Given the description of an element on the screen output the (x, y) to click on. 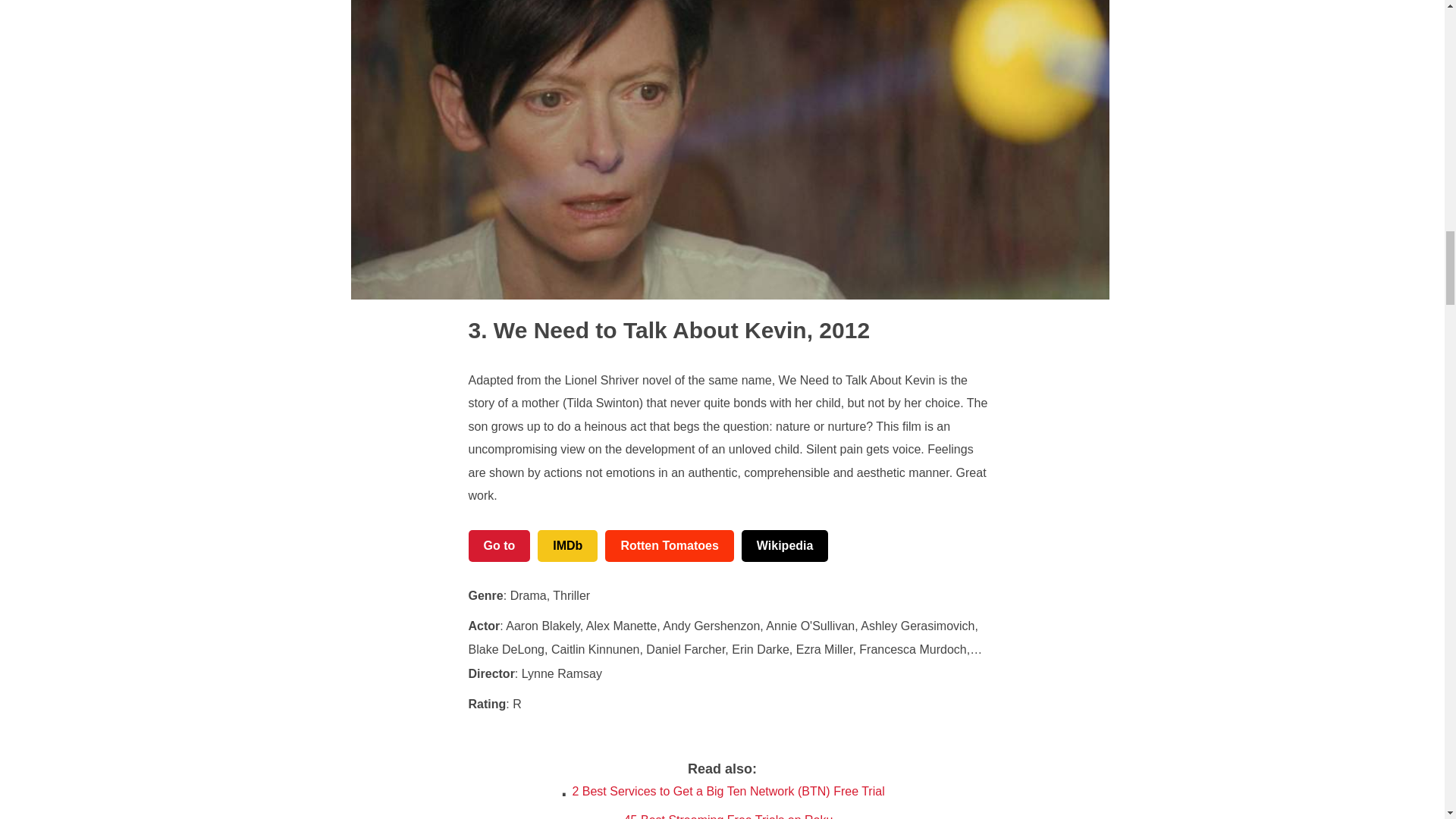
We Need to Talk About Kevin (637, 330)
